Given the description of an element on the screen output the (x, y) to click on. 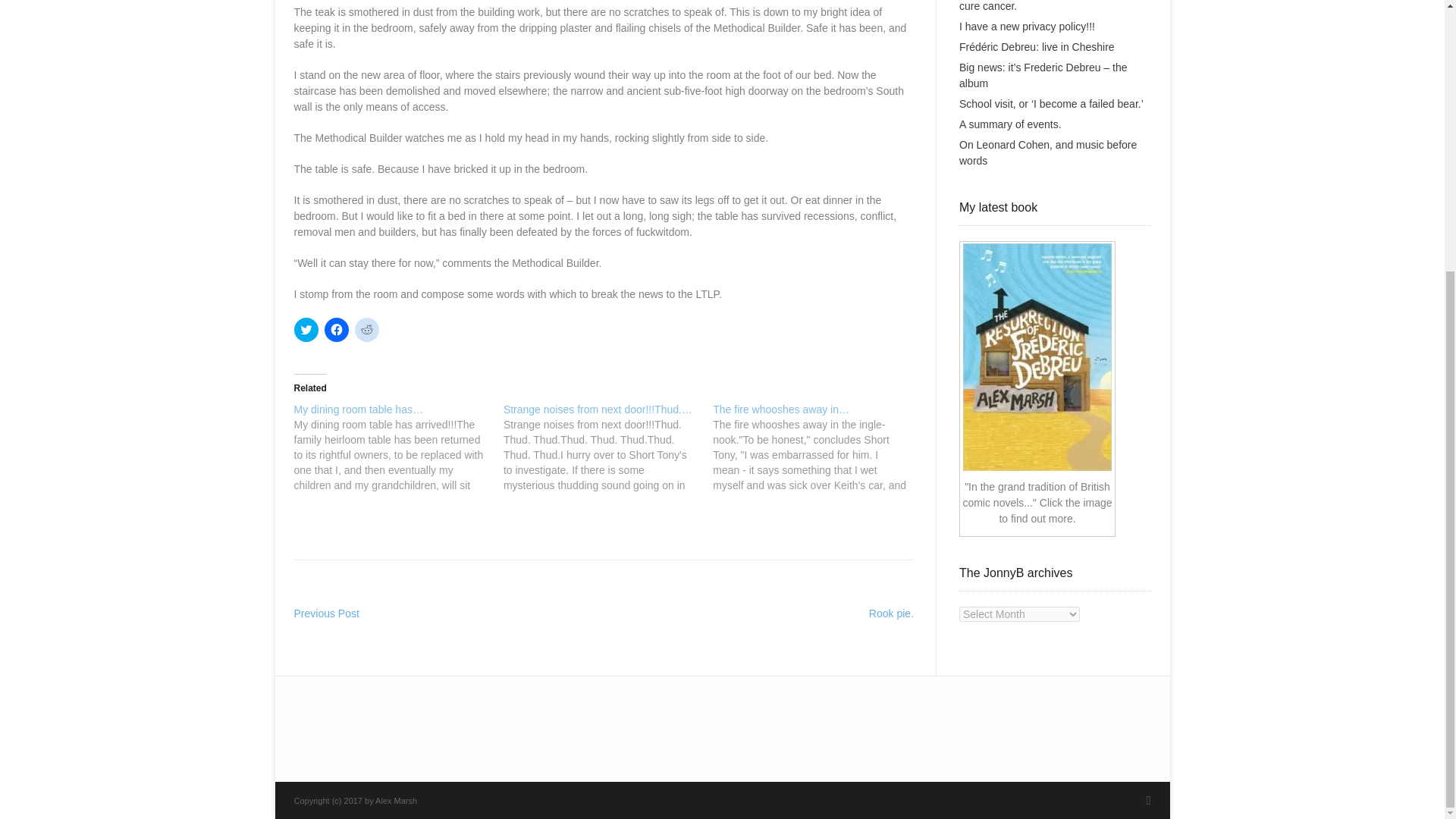
Rook pie. (891, 613)
A summary of events. (1010, 123)
Previous Post (326, 613)
I agree to do 100 push-ups a day, to cure cancer. (1044, 6)
Click to share on Twitter (306, 329)
On Leonard Cohen, and music before words (1048, 152)
Click to share on Reddit (366, 329)
I have a new privacy policy!!! (1026, 26)
Click to share on Facebook (336, 329)
